Given the description of an element on the screen output the (x, y) to click on. 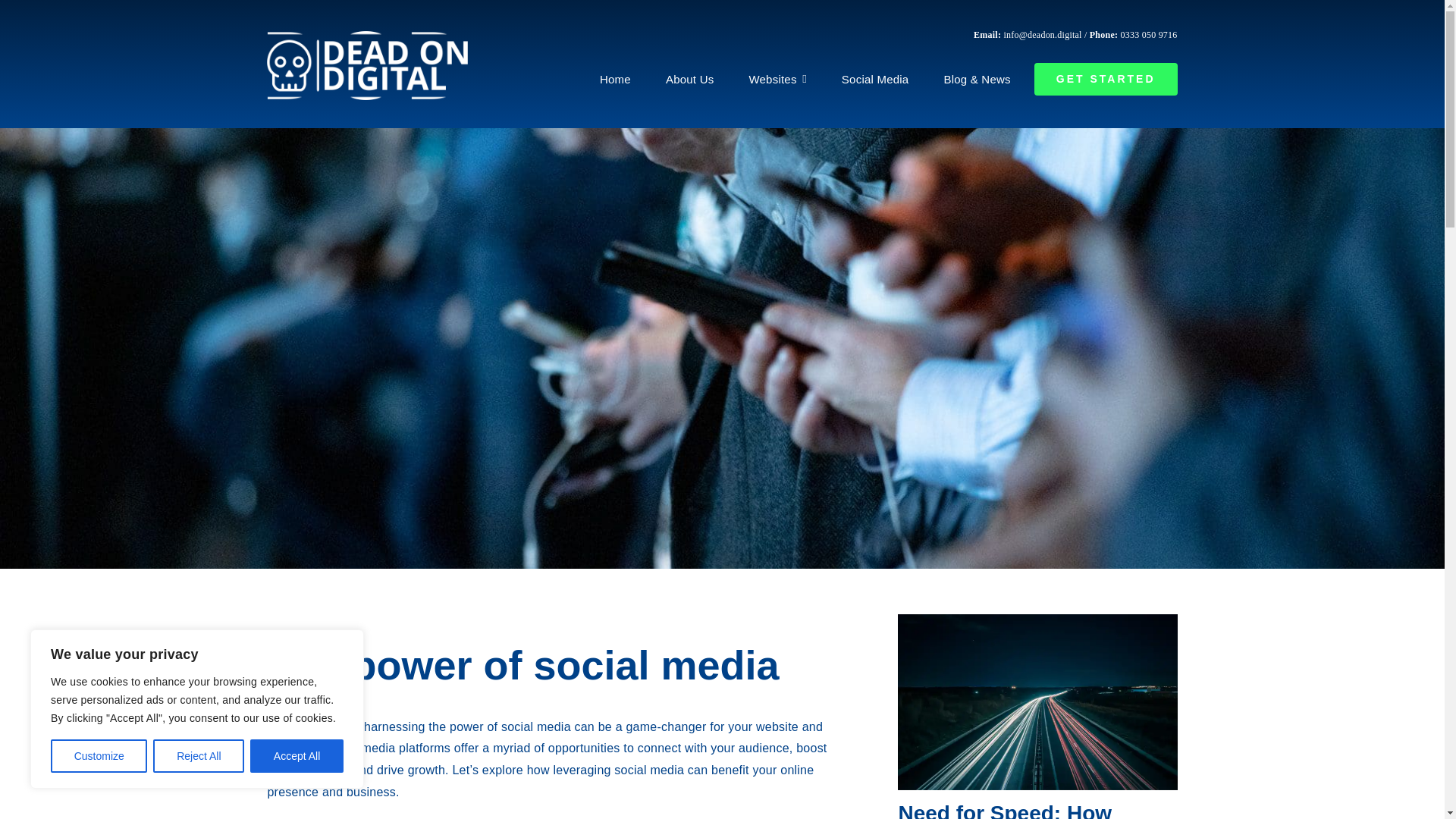
Reject All (198, 756)
Home (615, 78)
Accept All (296, 756)
Websites (776, 78)
Customize (98, 756)
Social Media (874, 78)
GET STARTED (1105, 78)
About Us (689, 78)
0333 050 9716 (1149, 33)
